Given the description of an element on the screen output the (x, y) to click on. 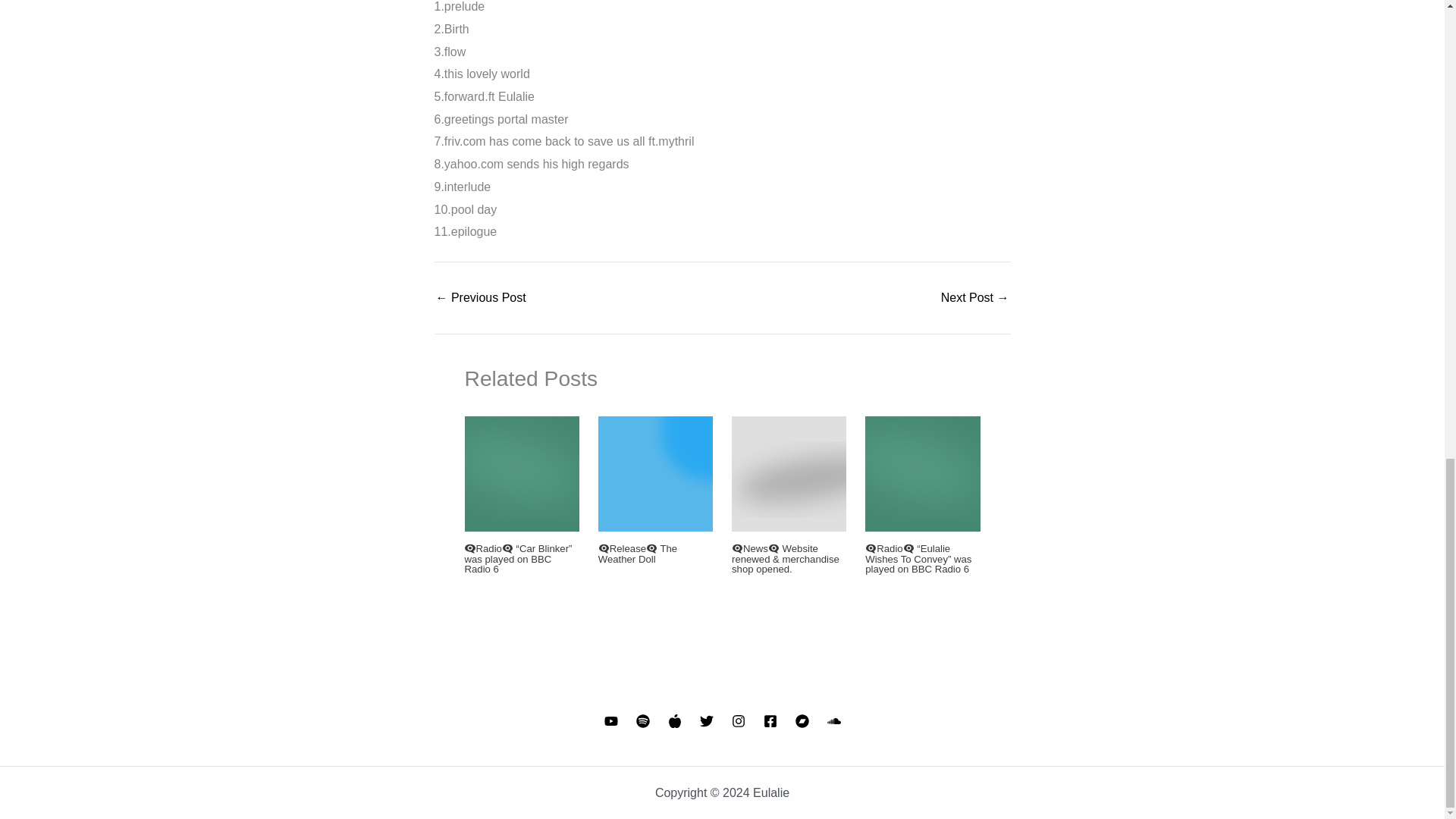
Release The Weather Doll (637, 553)
